Given the description of an element on the screen output the (x, y) to click on. 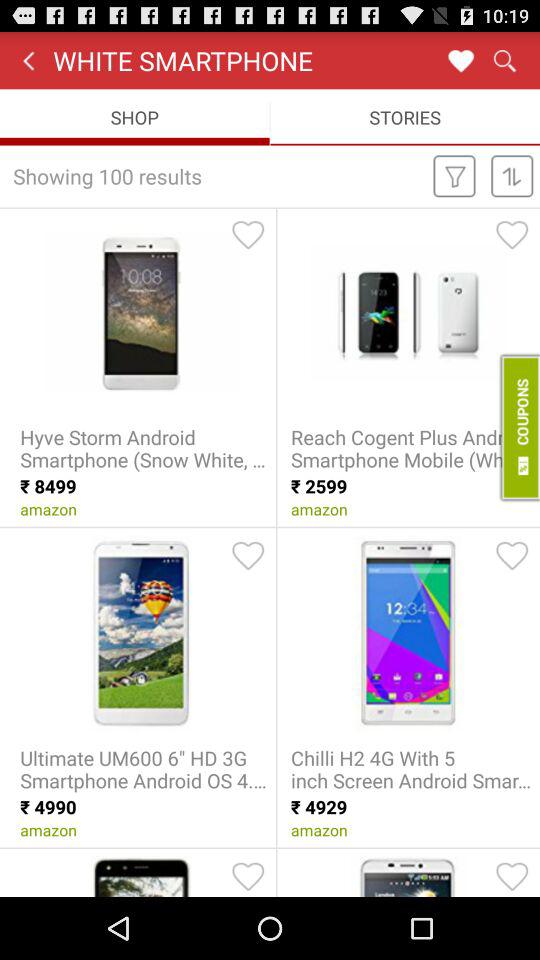
tap the item next to the stories item (134, 116)
